Given the description of an element on the screen output the (x, y) to click on. 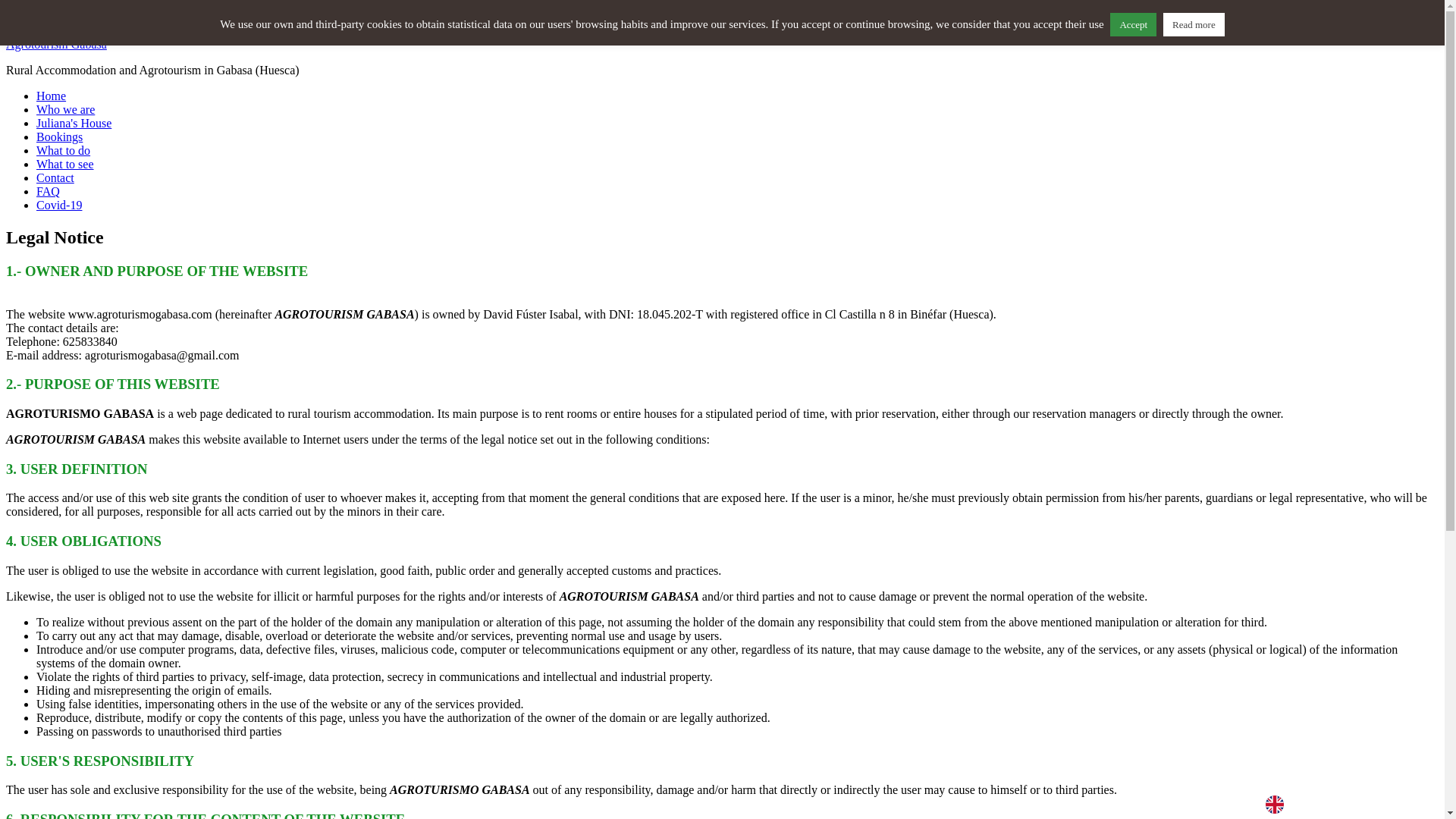
Skip to main content (86, 18)
Who we are (65, 109)
Bookings (59, 136)
Language switcher : Catalan (1393, 802)
What to do (63, 150)
Covid-19 (58, 205)
Accept (1132, 24)
What to see (65, 164)
Juliana's House (74, 123)
Home (50, 95)
